Given the description of an element on the screen output the (x, y) to click on. 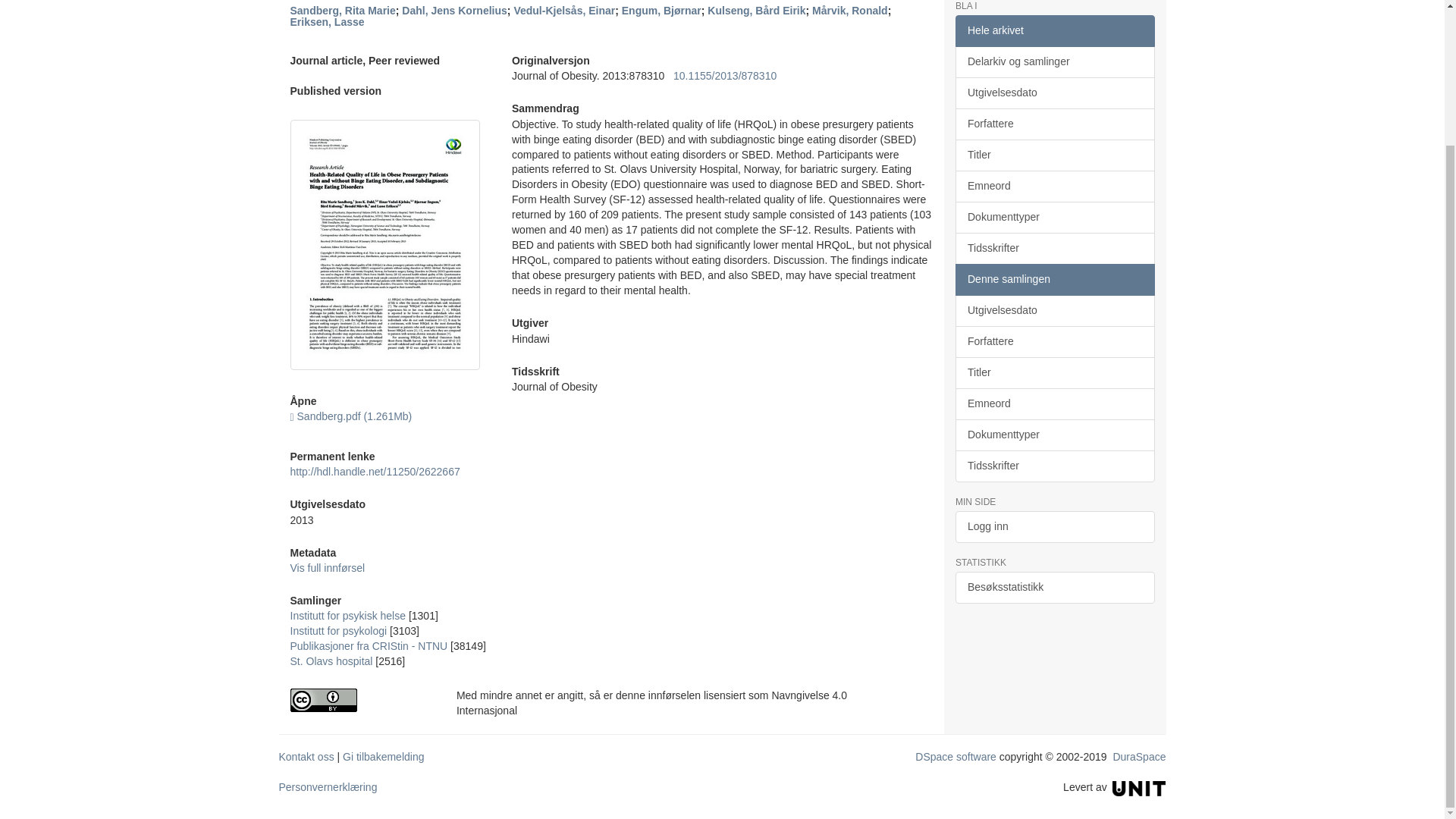
Publikasjoner fra CRIStin - NTNU (367, 645)
Institutt for psykologi (338, 630)
Navngivelse 4.0 Internasjonal (360, 699)
Unit (1139, 787)
Sandberg, Rita Marie (341, 10)
Dahl, Jens Kornelius (453, 10)
Eriksen, Lasse (326, 21)
Institutt for psykisk helse (347, 615)
St. Olavs hospital (330, 661)
